Given the description of an element on the screen output the (x, y) to click on. 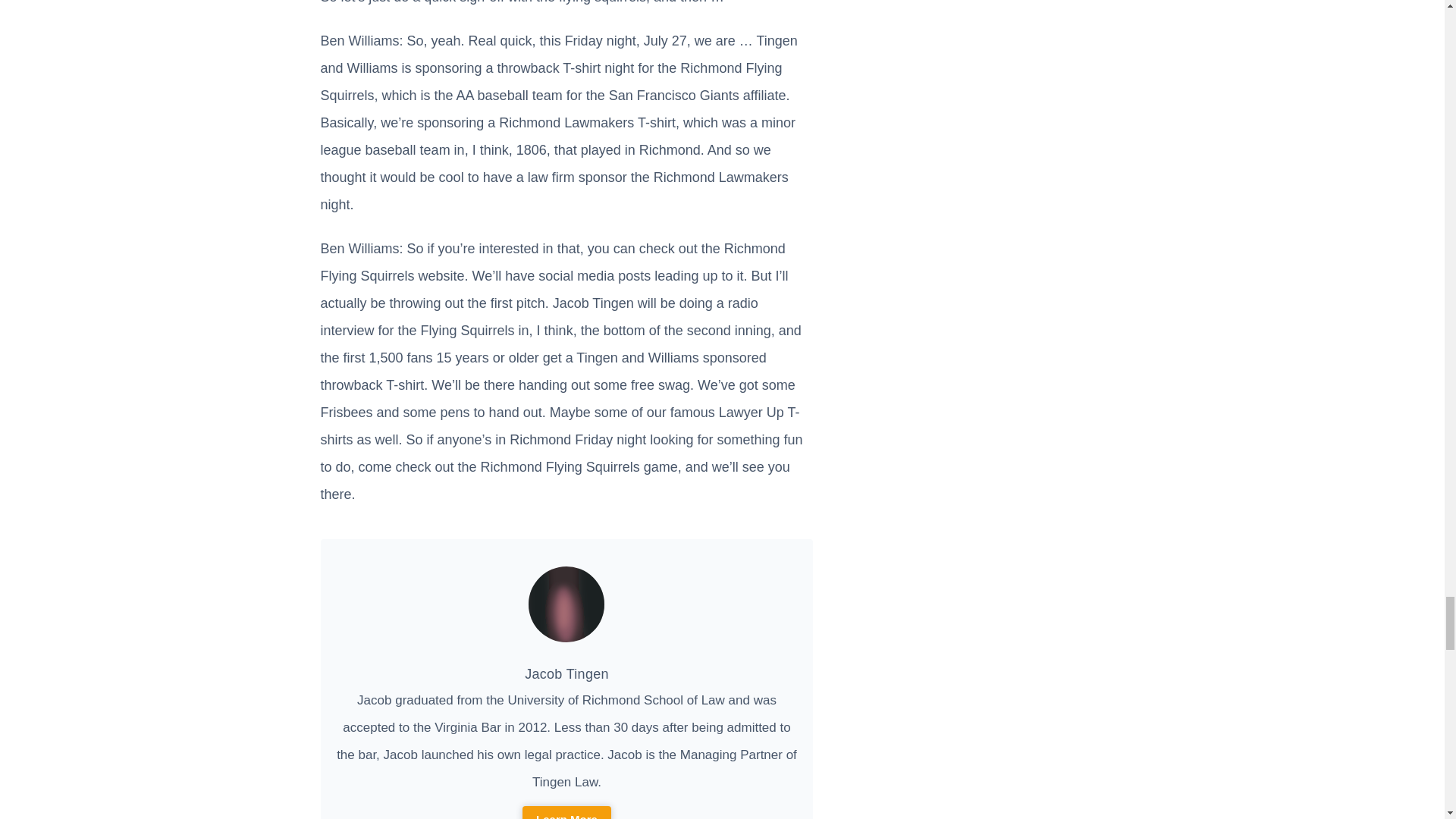
Learn More (566, 812)
